Given the description of an element on the screen output the (x, y) to click on. 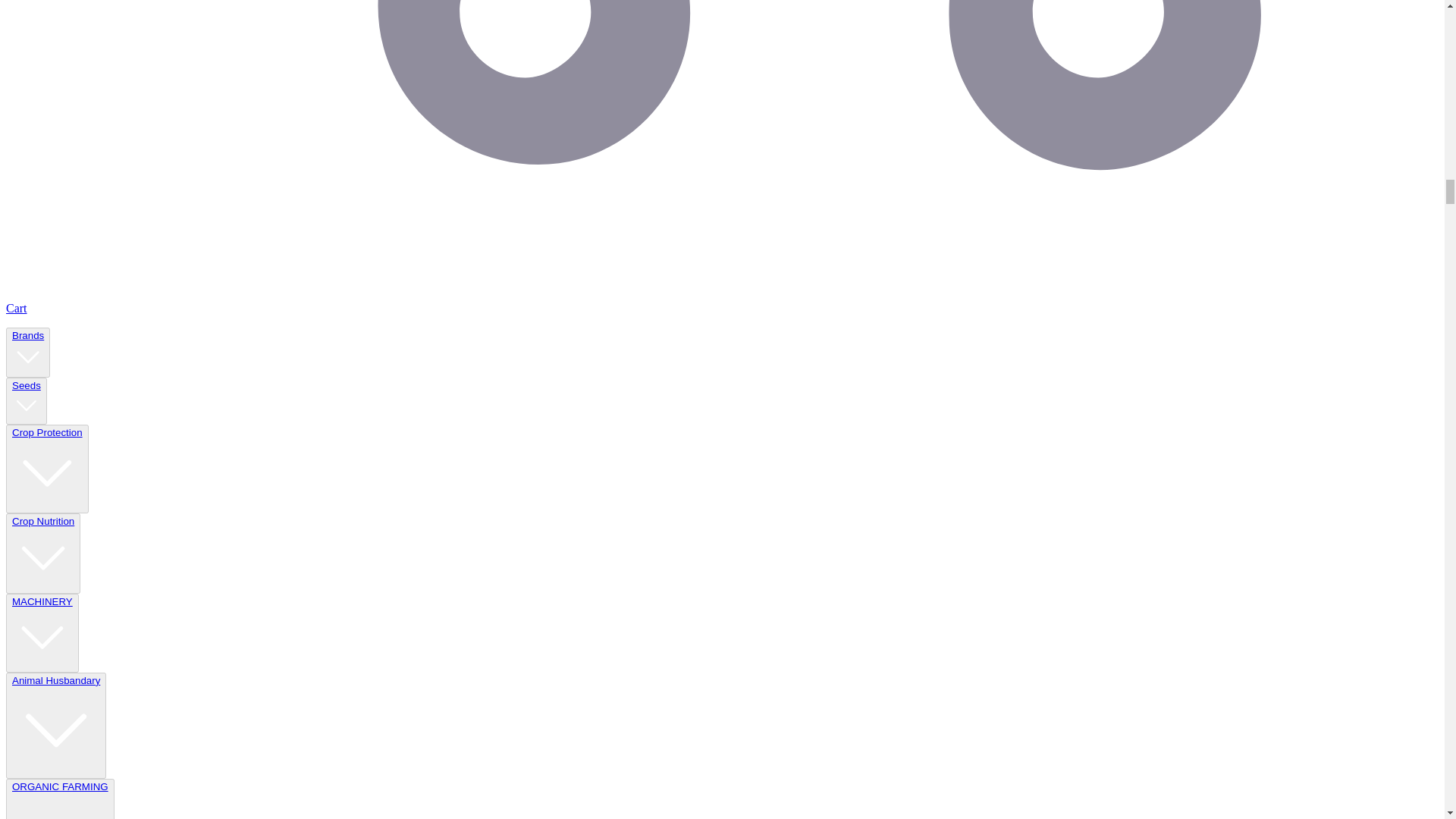
Animal Husbandary (55, 725)
ORGANIC FARMING (59, 800)
ORGANIC FARMING (60, 798)
Crop Protection (46, 469)
Crop Nutrition (42, 553)
MACHINERY (41, 632)
